Given the description of an element on the screen output the (x, y) to click on. 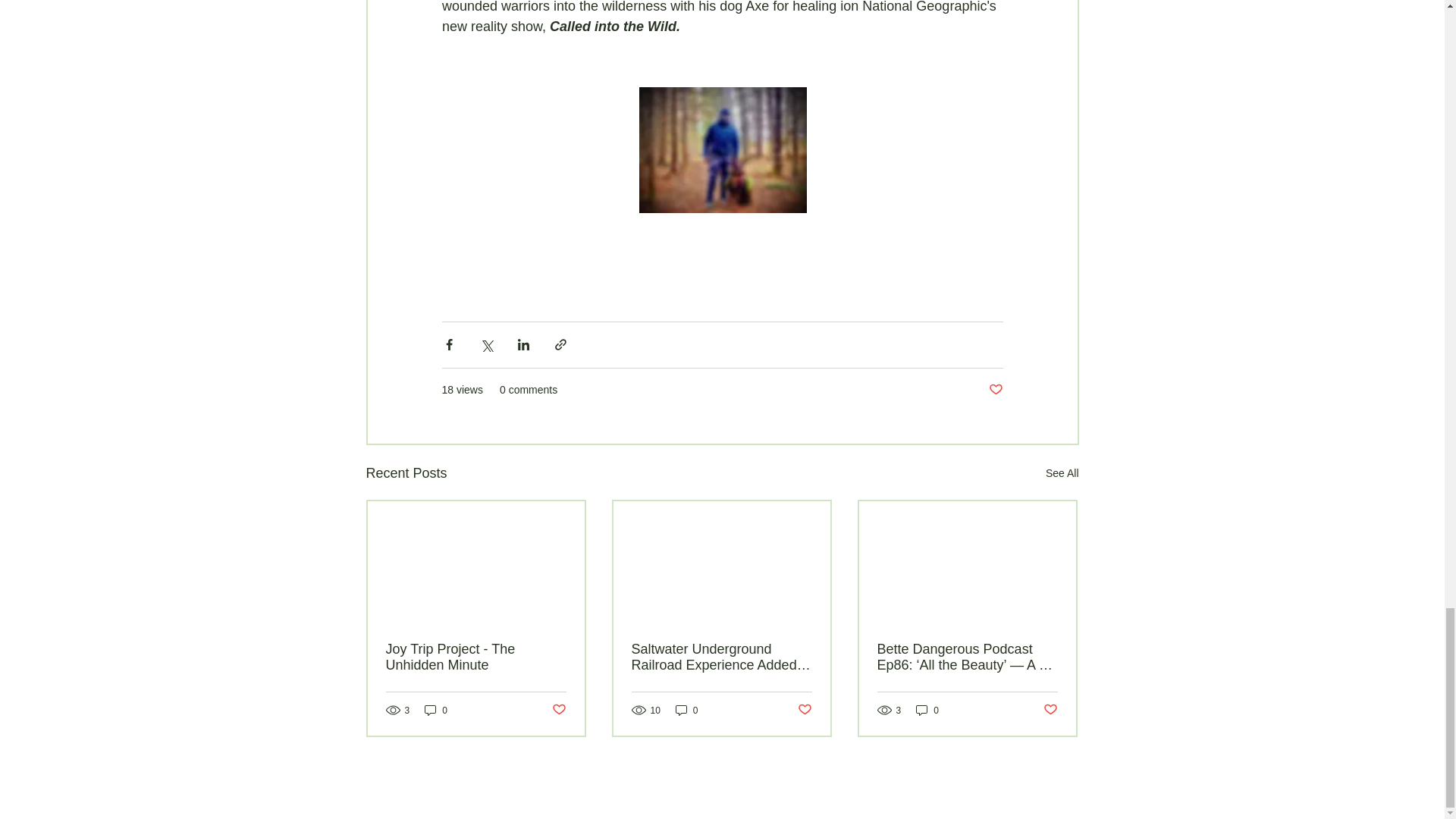
Post not marked as liked (1050, 709)
Joy Trip Project - The Unhidden Minute (475, 657)
Post not marked as liked (804, 709)
0 (435, 709)
0 (927, 709)
Post not marked as liked (558, 709)
Post not marked as liked (995, 390)
See All (1061, 473)
0 (687, 709)
